Given the description of an element on the screen output the (x, y) to click on. 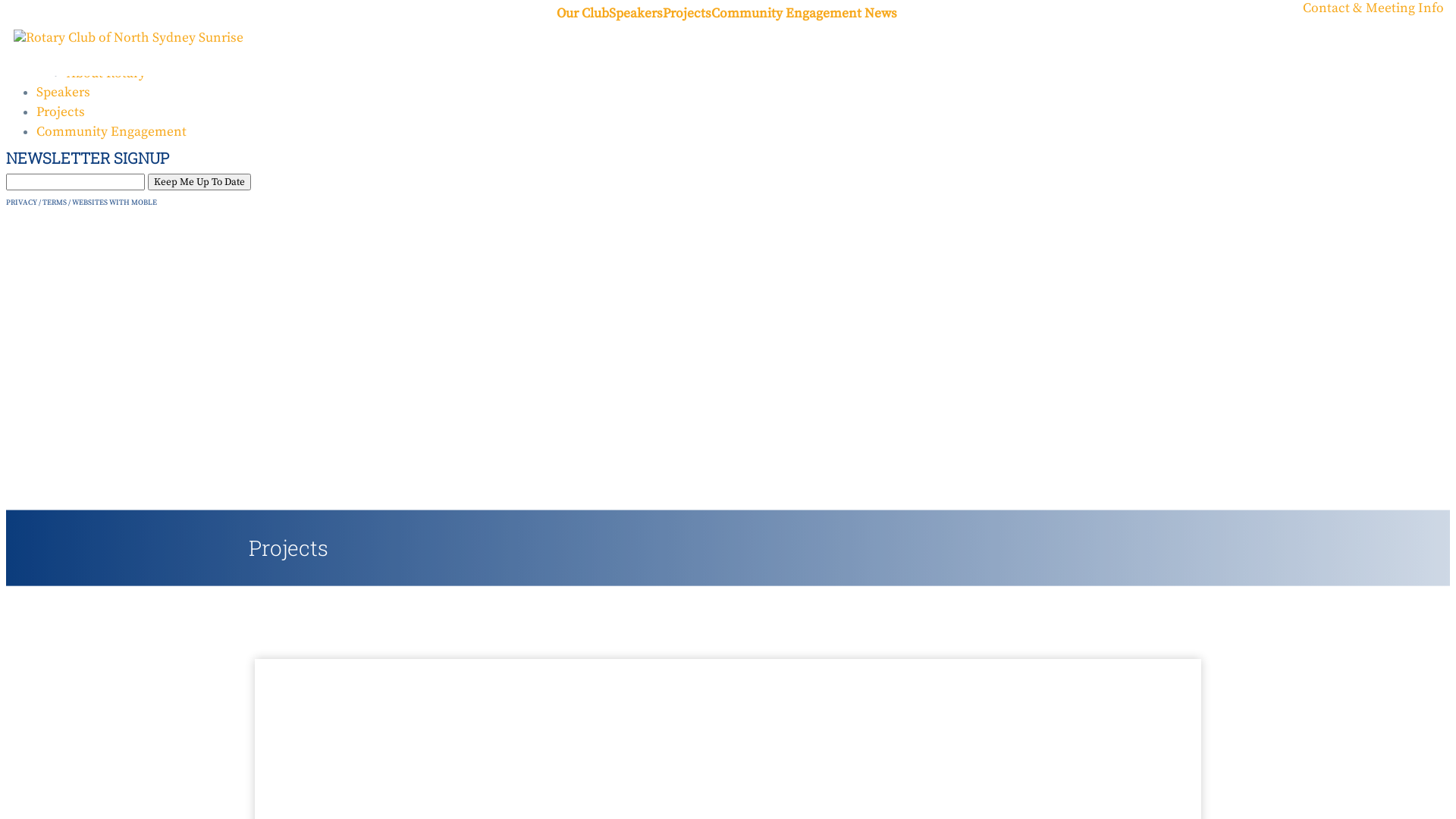
TERMS Element type: text (54, 202)
News Element type: text (880, 14)
Speakers Element type: text (63, 92)
Projects Element type: text (686, 14)
Community Engagement Element type: text (111, 131)
Home Element type: text (54, 14)
Keep Me Up To Date Element type: text (199, 181)
Our Club Element type: text (582, 14)
WEBSITES WITH MOBLE Element type: text (114, 202)
Speakers Element type: text (635, 14)
Our Club Element type: text (62, 34)
Projects Element type: text (60, 111)
Contact & Meeting Info Element type: text (1372, 8)
Community Engagement Element type: text (786, 14)
News Element type: text (82, 53)
About Rotary Element type: text (105, 73)
PRIVACY Element type: text (21, 202)
